Given the description of an element on the screen output the (x, y) to click on. 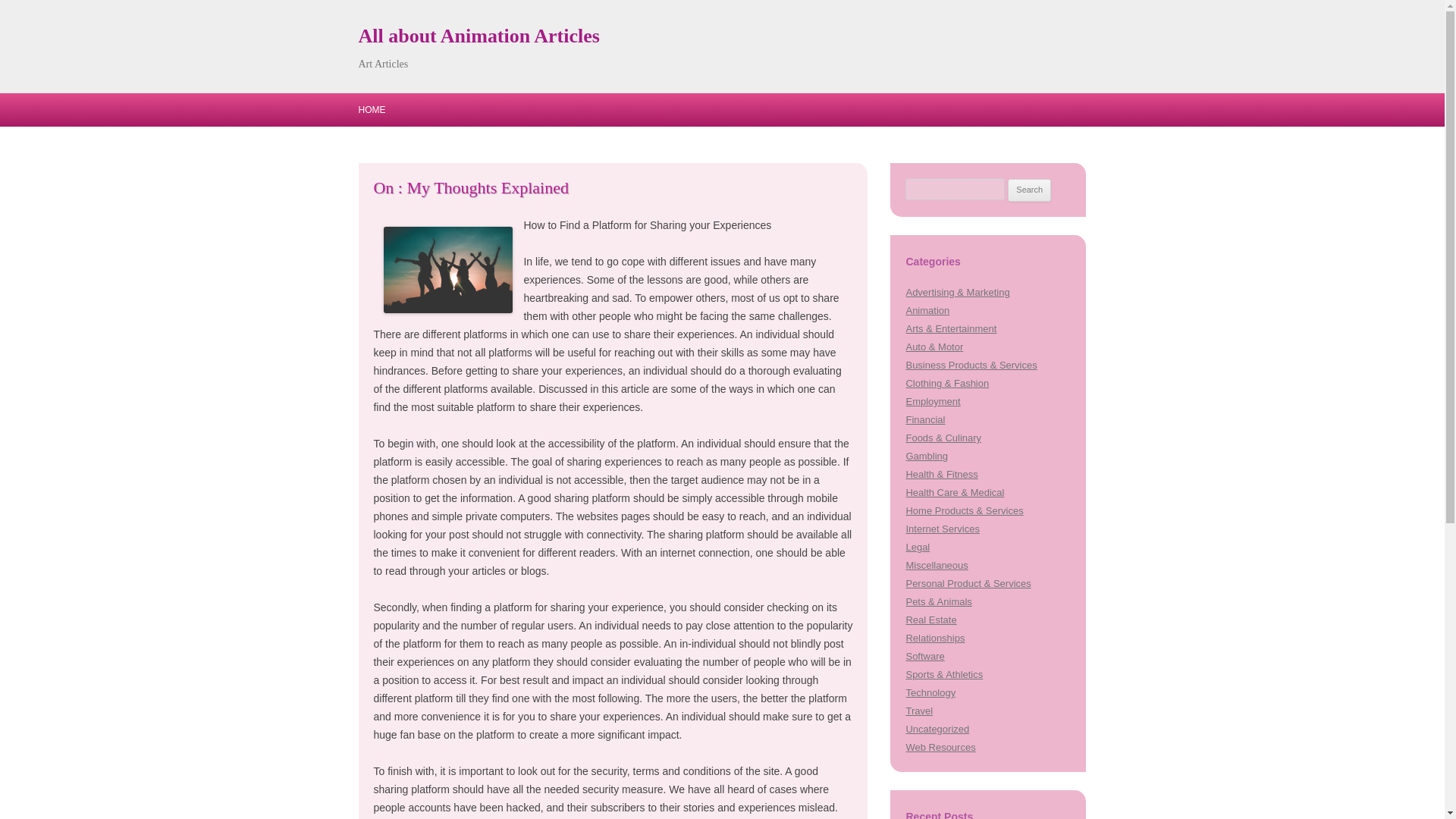
Software (924, 655)
Travel (919, 710)
All about Animation Articles (478, 36)
Web Resources (940, 747)
Technology (930, 692)
Gambling (926, 455)
Search (1029, 190)
Real Estate (930, 619)
Animation (927, 310)
All about Animation Articles (478, 36)
